Given the description of an element on the screen output the (x, y) to click on. 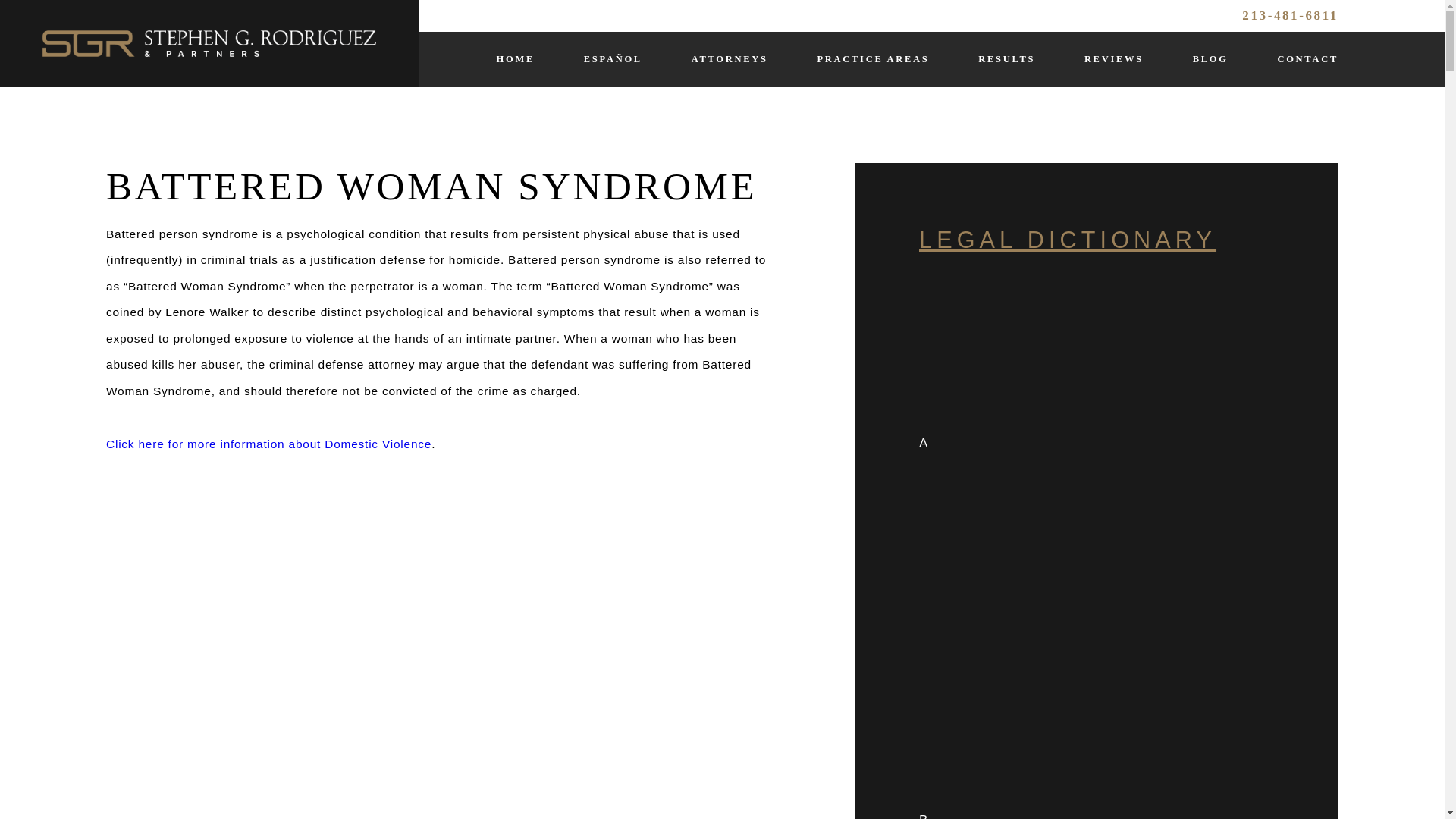
PRACTICE AREAS (872, 59)
HOME (515, 59)
Open the accessibility options menu (31, 786)
Open child menu of B (1101, 733)
ATTORNEYS (729, 59)
213-481-6811 (1289, 16)
Open child menu of A (1101, 444)
